Given the description of an element on the screen output the (x, y) to click on. 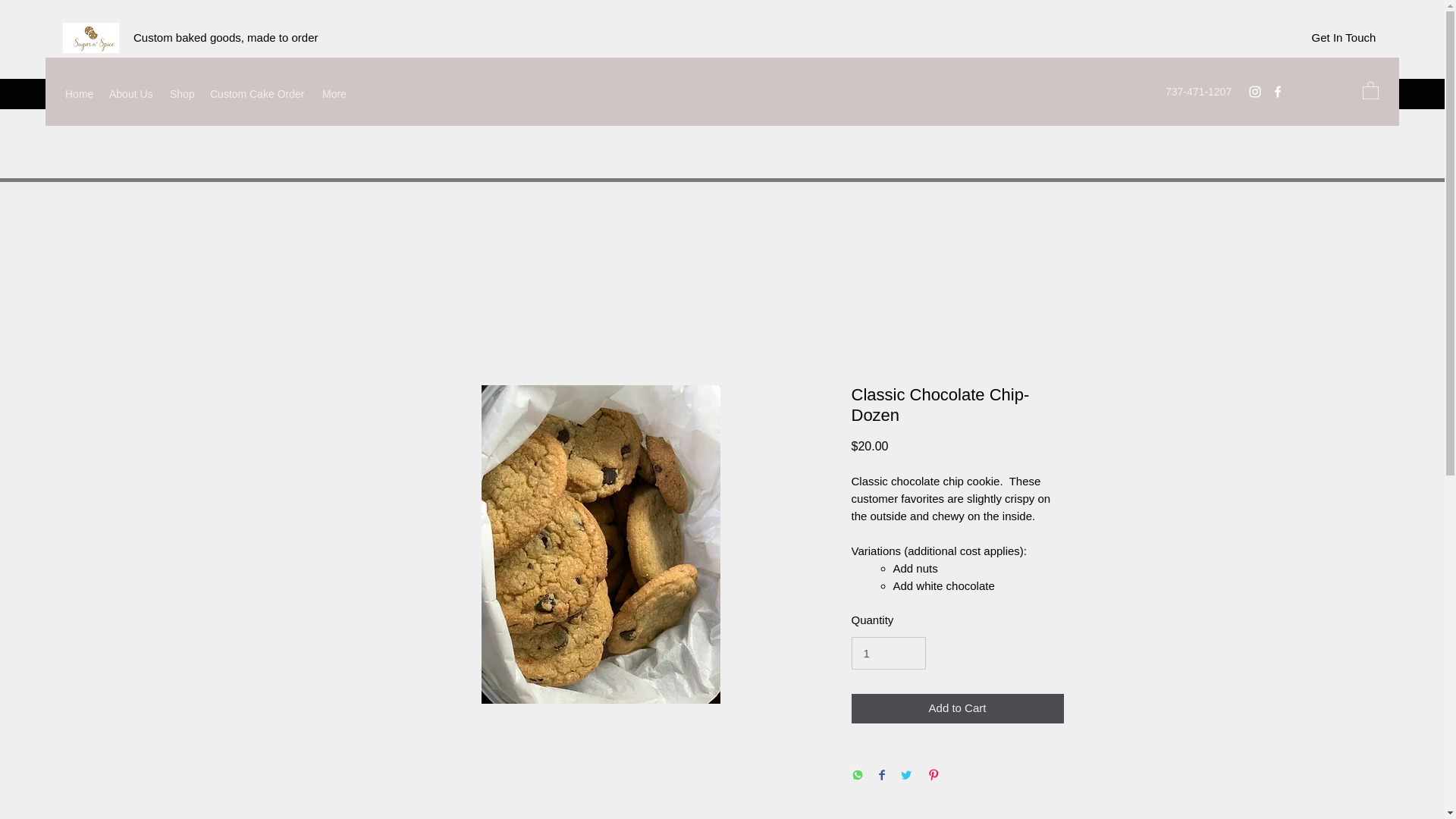
Get In Touch (1343, 37)
Custom Cake Order (258, 93)
Add to Cart (956, 708)
About Us (131, 93)
Shop (181, 93)
Home (79, 93)
1 (887, 653)
